Given the description of an element on the screen output the (x, y) to click on. 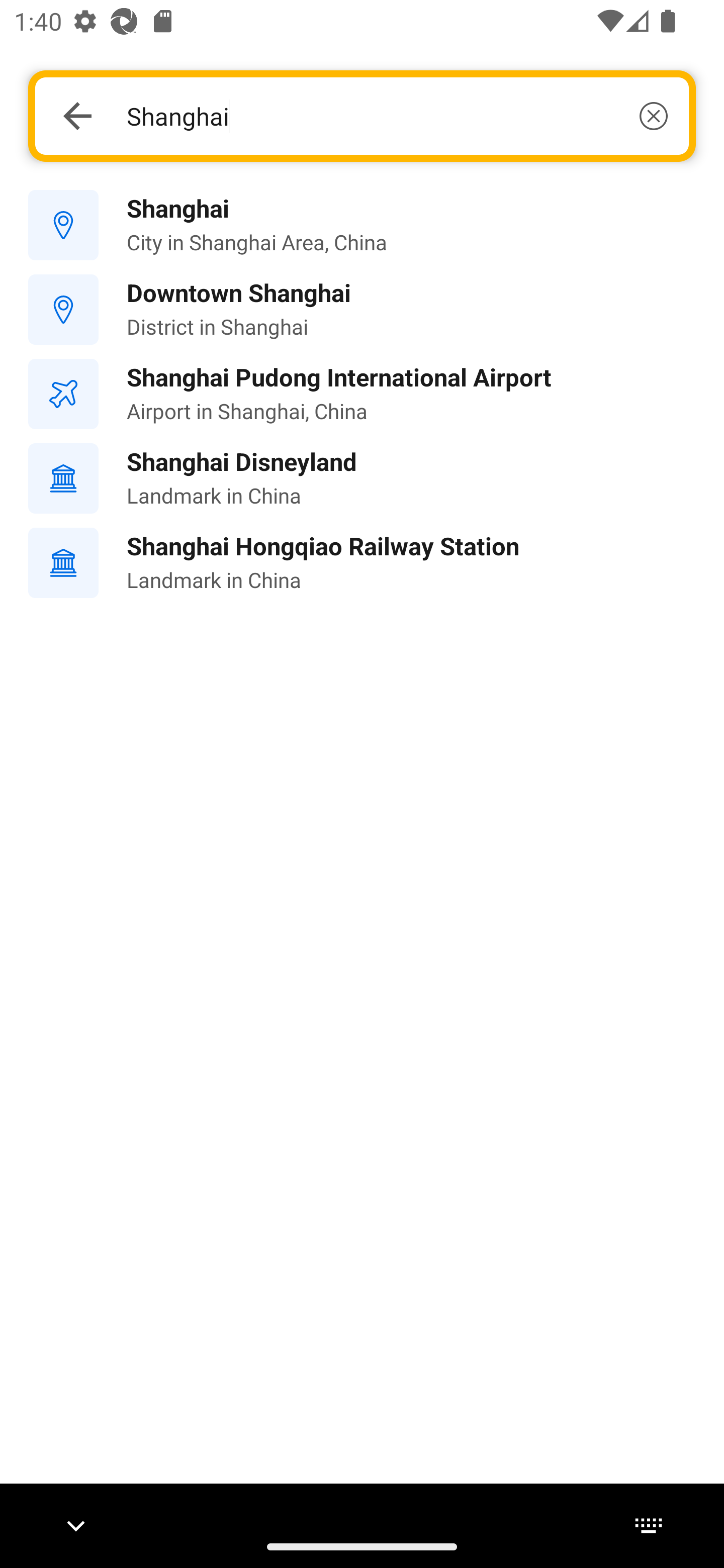
Shanghai (396, 115)
Shanghai City in Shanghai Area, China (362, 225)
Downtown Shanghai District in Shanghai (362, 309)
Shanghai Disneyland Landmark in China (362, 477)
